Given the description of an element on the screen output the (x, y) to click on. 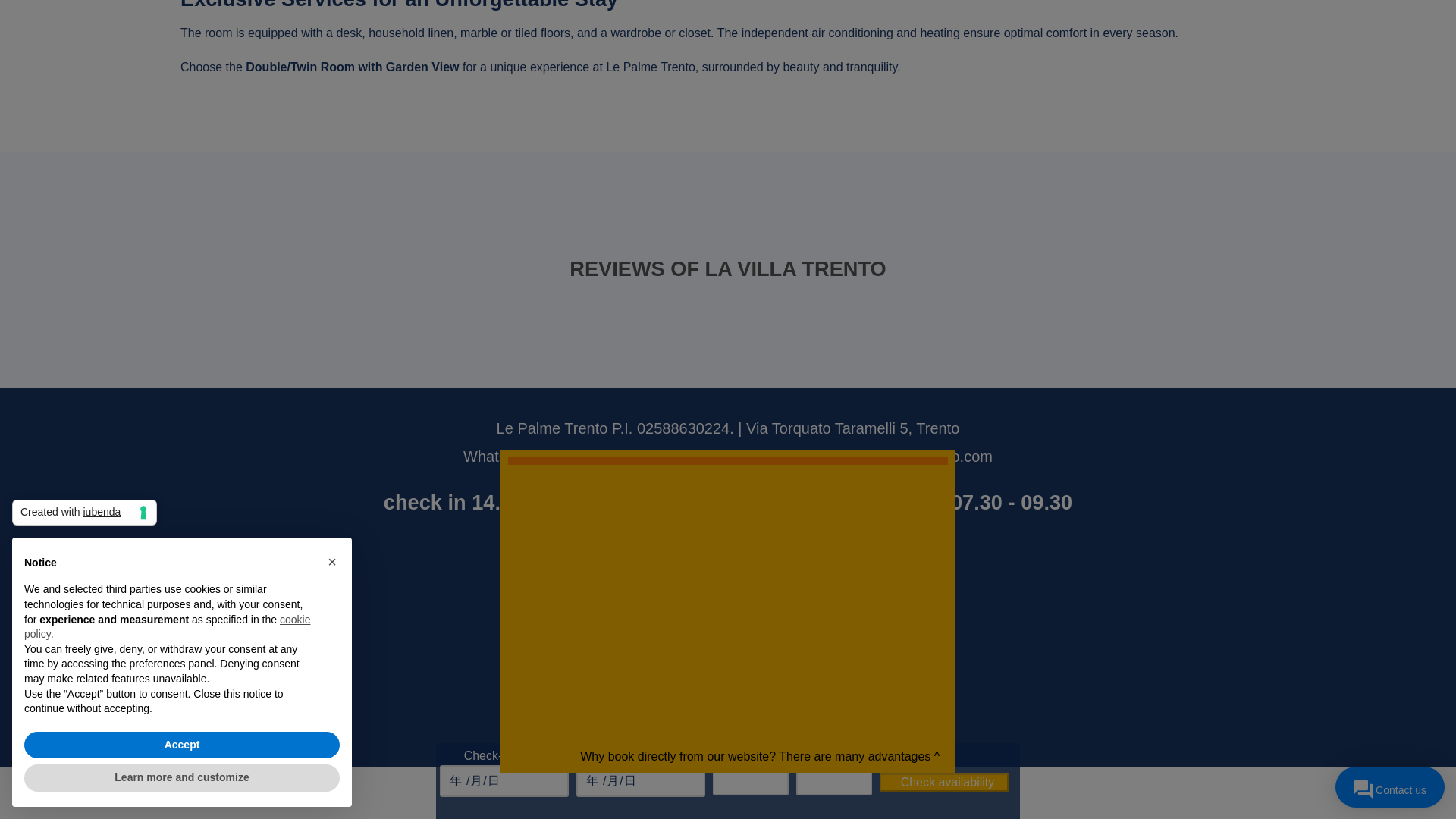
iubenda - Cookie Policy and Cookie Compliance Management (84, 186)
  Check availability (944, 456)
cookie policy (167, 300)
Created with iubenda (84, 186)
Accept (181, 419)
Learn more and customize (181, 452)
